Given the description of an element on the screen output the (x, y) to click on. 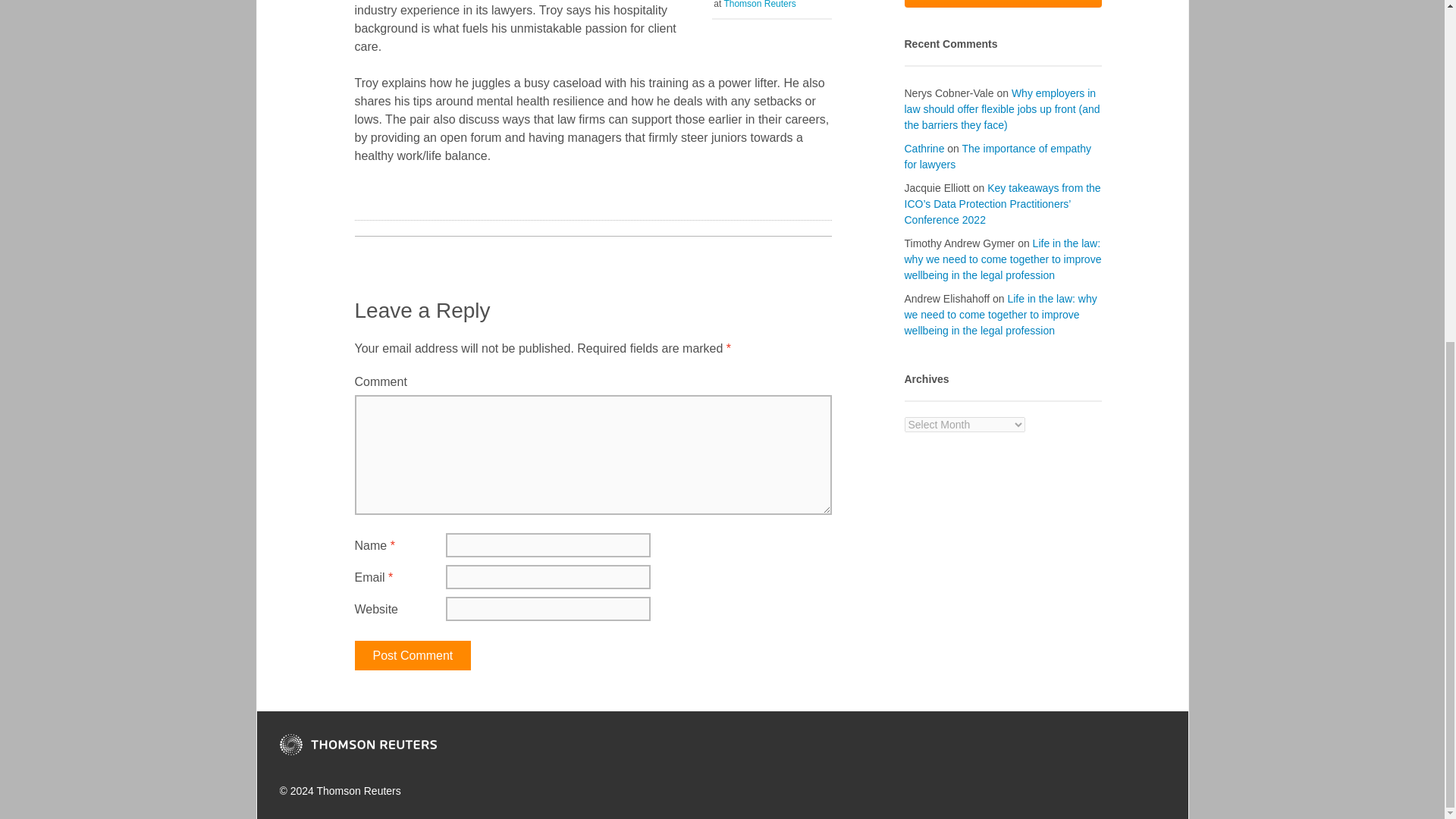
Post Comment (413, 655)
Thomson Reuters (758, 4)
Cathrine (923, 148)
Post Comment (413, 655)
Thomson Reuters (357, 744)
The importance of empathy for lawyers (997, 156)
